Given the description of an element on the screen output the (x, y) to click on. 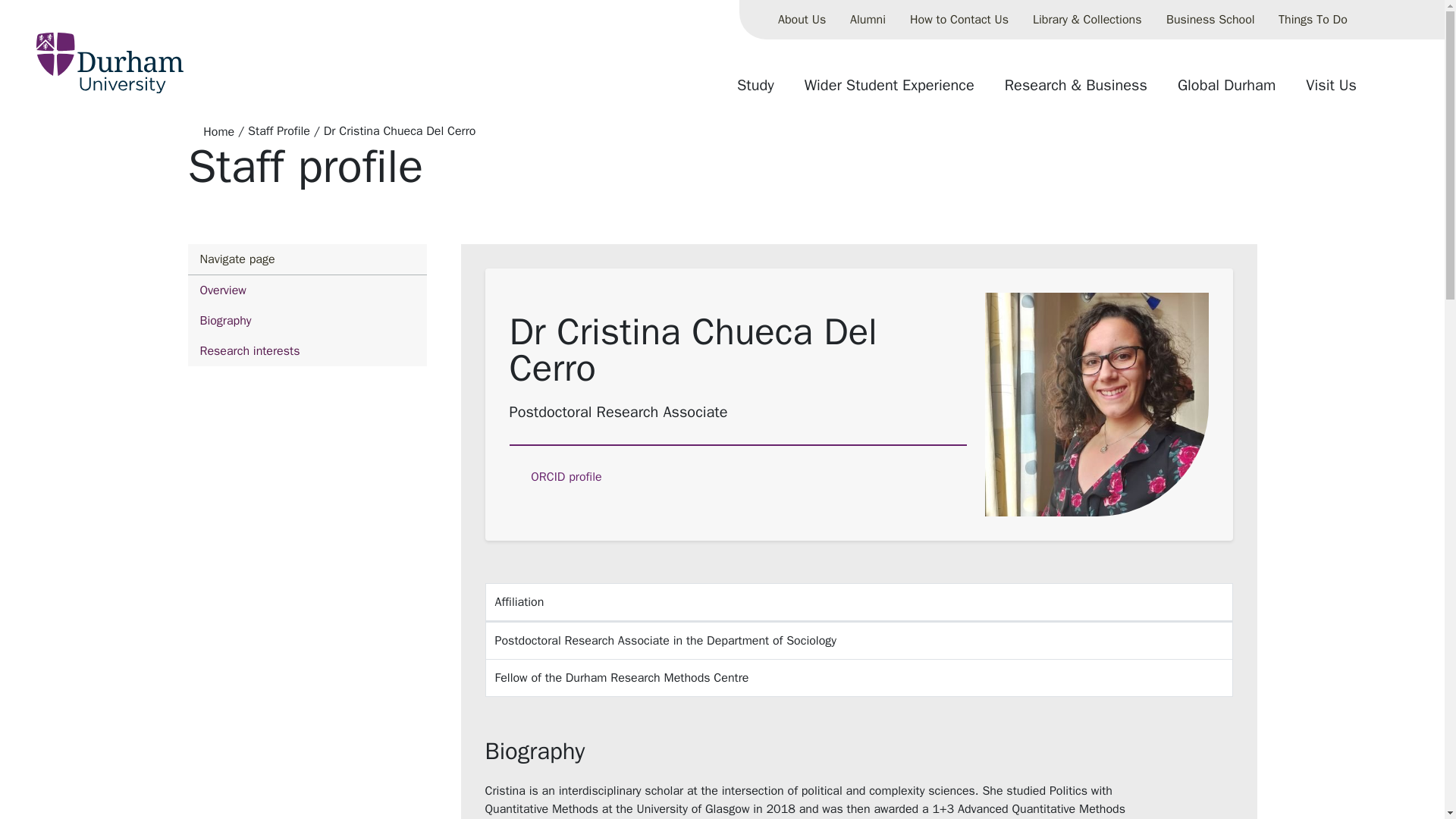
Business School (1210, 19)
Global Durham (306, 305)
Study (306, 320)
Visit Us (1226, 91)
About Us (755, 91)
Alumni (1331, 91)
Things To Do (801, 19)
Skip to main content (868, 19)
